Given the description of an element on the screen output the (x, y) to click on. 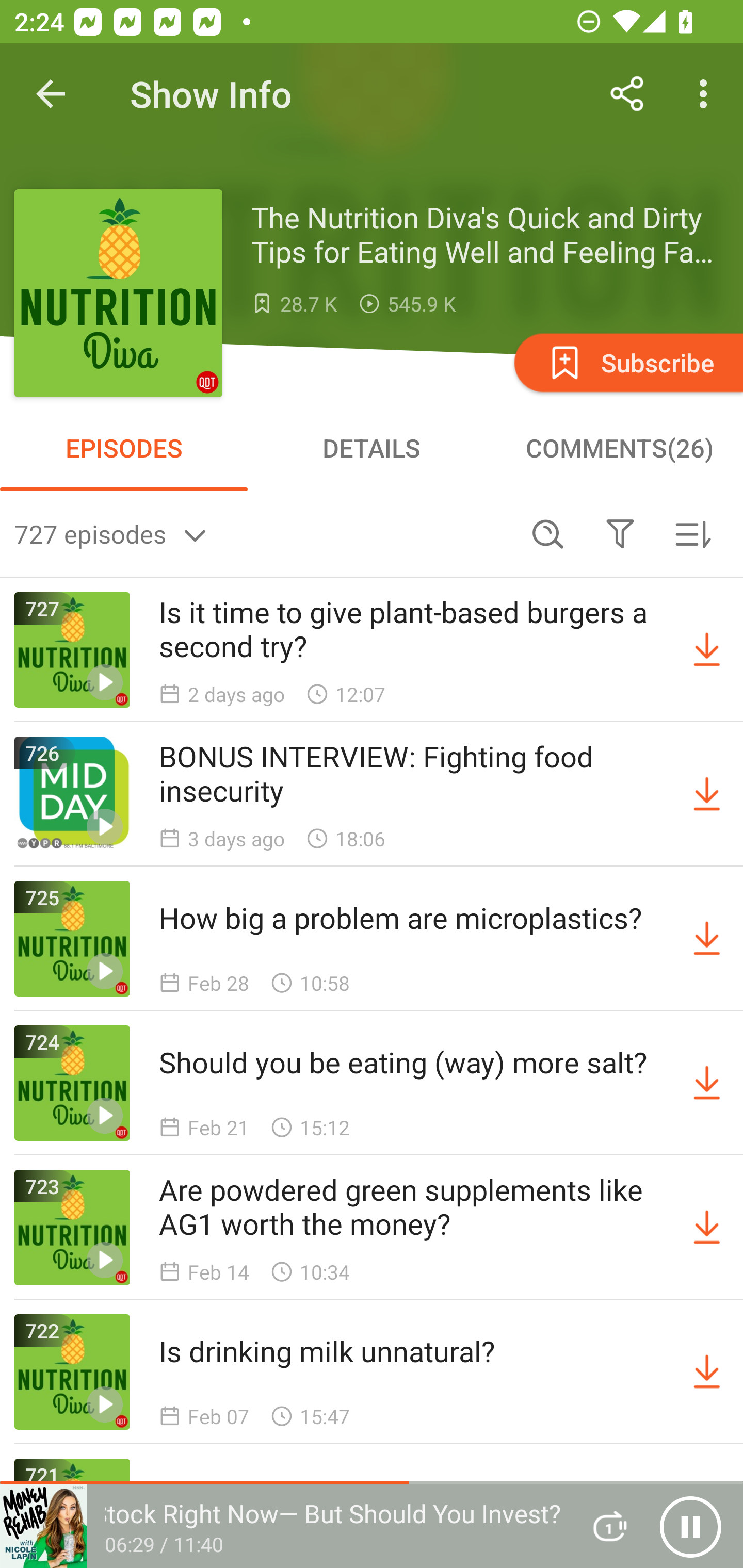
Navigate up (50, 93)
Share (626, 93)
More options (706, 93)
Subscribe (627, 361)
EPISODES (123, 447)
DETAILS (371, 447)
COMMENTS(26) (619, 447)
727 episodes  (262, 533)
 Search (547, 533)
 (619, 533)
 Sorted by newest first (692, 533)
Download (706, 649)
Download (706, 793)
Download (706, 939)
Download (706, 1083)
Download (706, 1227)
Download (706, 1371)
Pause (690, 1526)
